Given the description of an element on the screen output the (x, y) to click on. 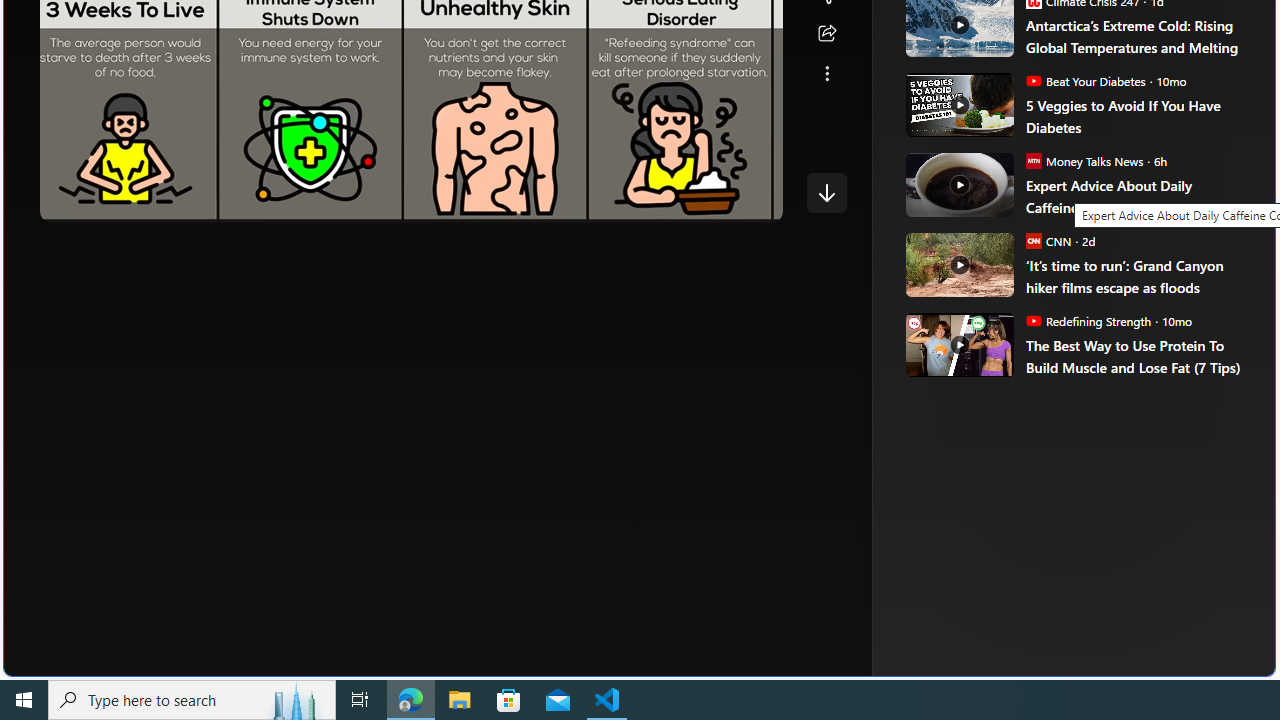
Watch on YouTube (697, 202)
See more (826, 74)
Expert Advice About Daily Caffeine Consumption (1136, 196)
Share this story (826, 33)
ABC News (974, 12)
Share this story (826, 33)
Full screen (f) (750, 202)
CNN (1033, 240)
